Given the description of an element on the screen output the (x, y) to click on. 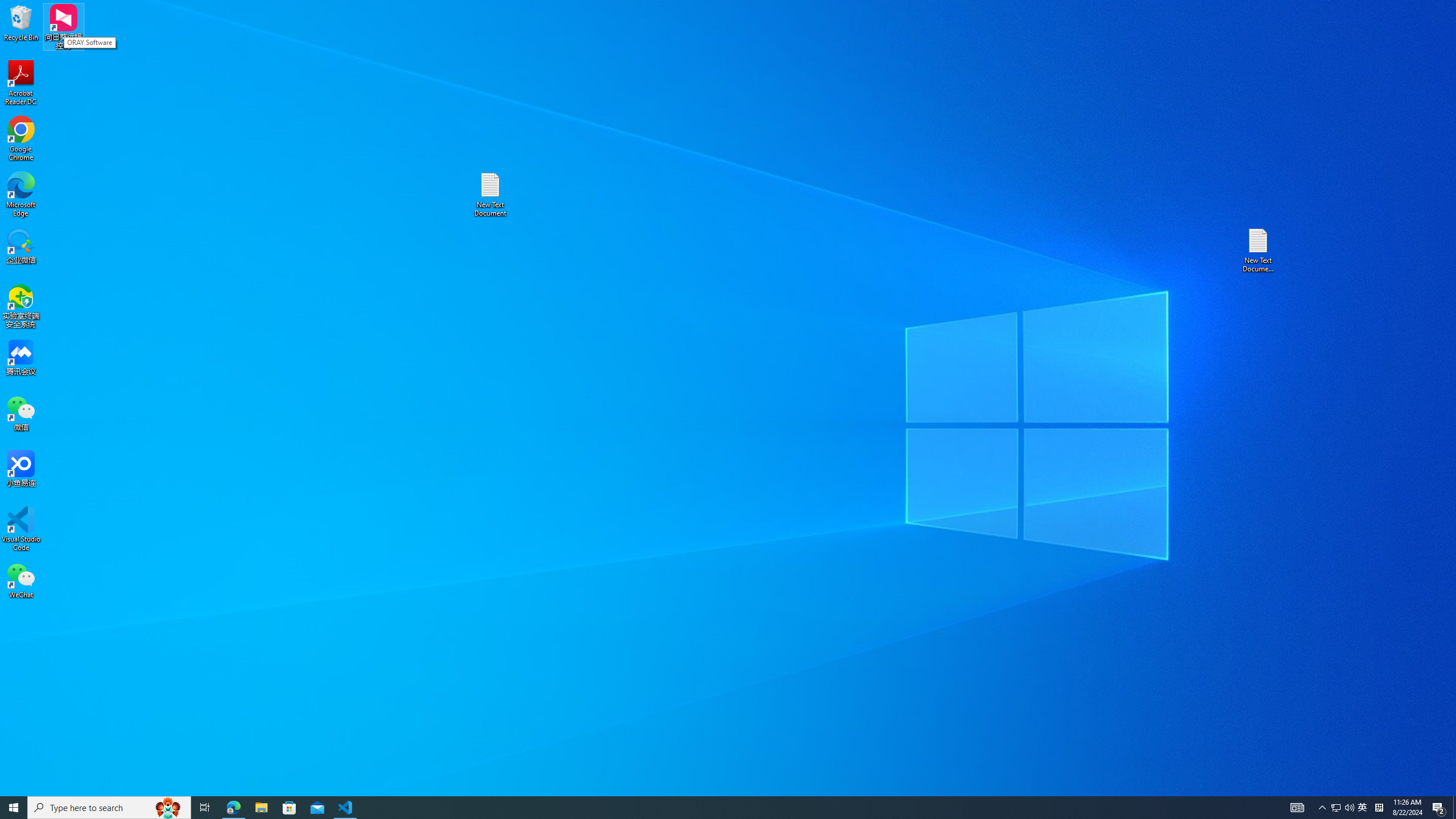
Visual Studio Code (1335, 807)
Show desktop (21, 528)
Q2790: 100% (1454, 807)
Notification Chevron (1349, 807)
New Text Document (2) (1322, 807)
File Explorer (1258, 250)
Microsoft Store (261, 807)
Acrobat Reader DC (289, 807)
Start (21, 82)
WeChat (13, 807)
Microsoft Edge (21, 580)
